Given the description of an element on the screen output the (x, y) to click on. 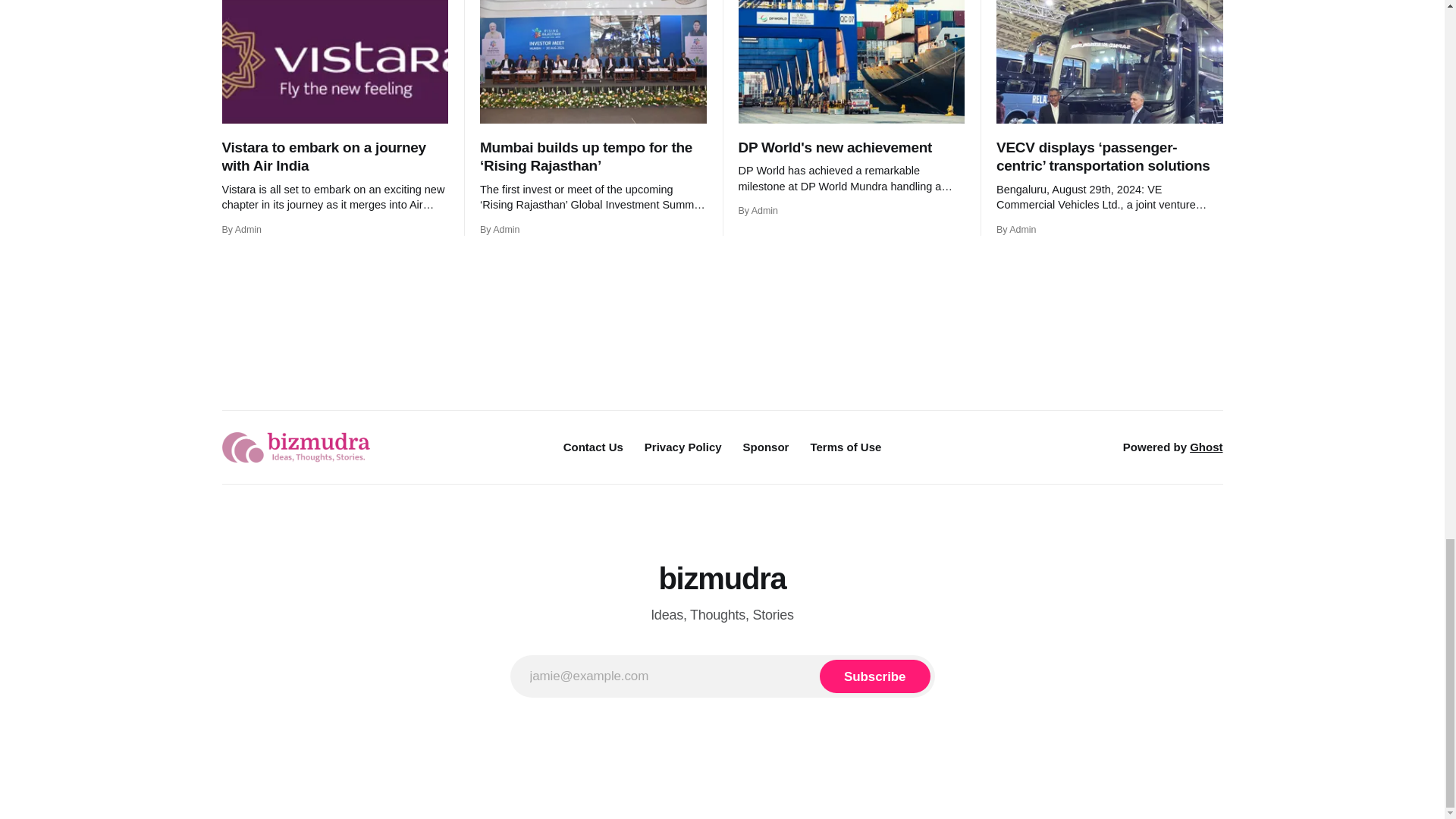
Ghost (1206, 446)
Sponsor (765, 446)
Subscribe (874, 676)
Privacy Policy (683, 446)
Terms of Use (844, 446)
Contact Us (593, 446)
